Given the description of an element on the screen output the (x, y) to click on. 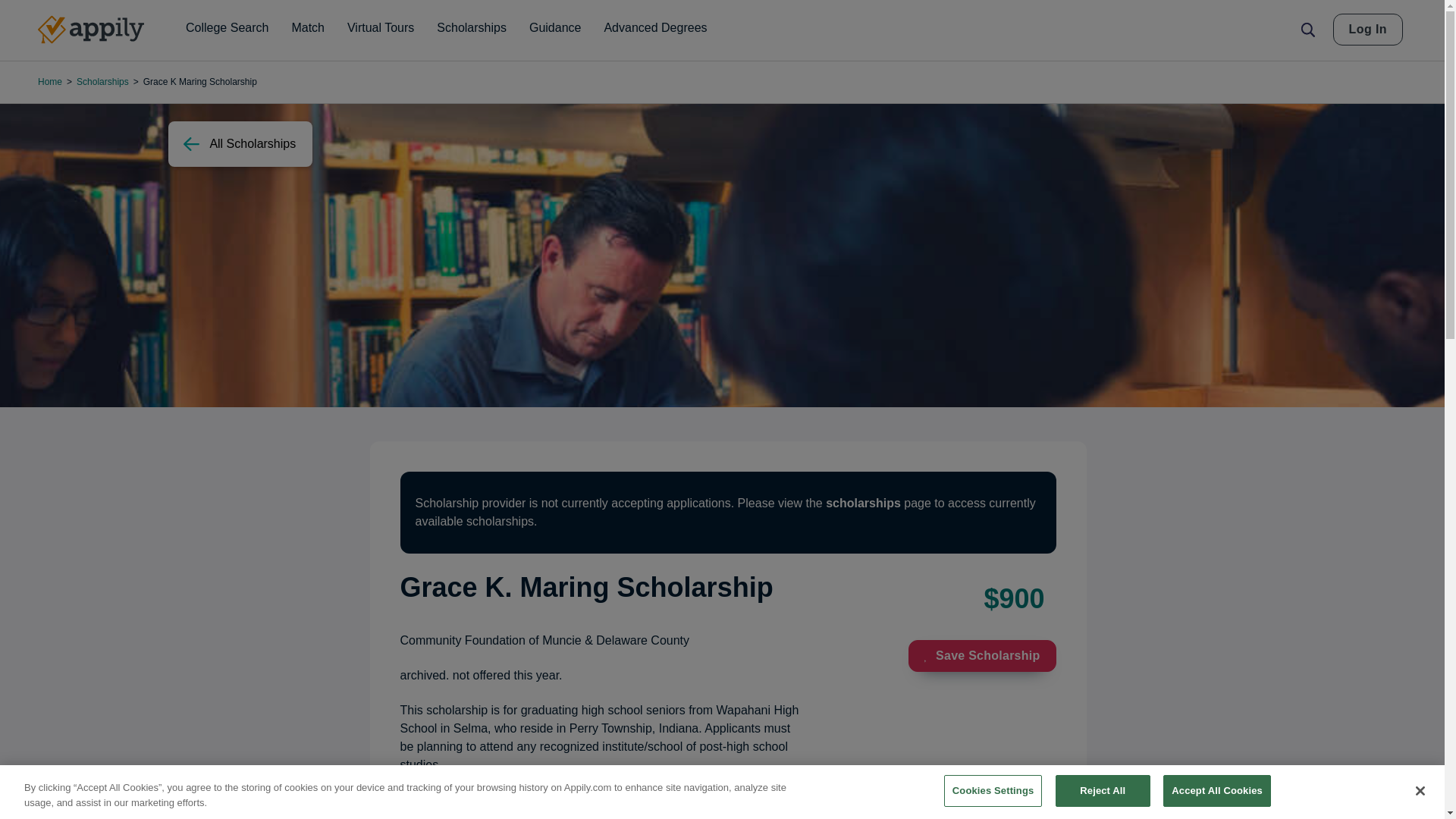
College Search (226, 28)
Virtual Tours (380, 28)
Home (90, 29)
Scholarships (471, 28)
Match (307, 28)
